Given the description of an element on the screen output the (x, y) to click on. 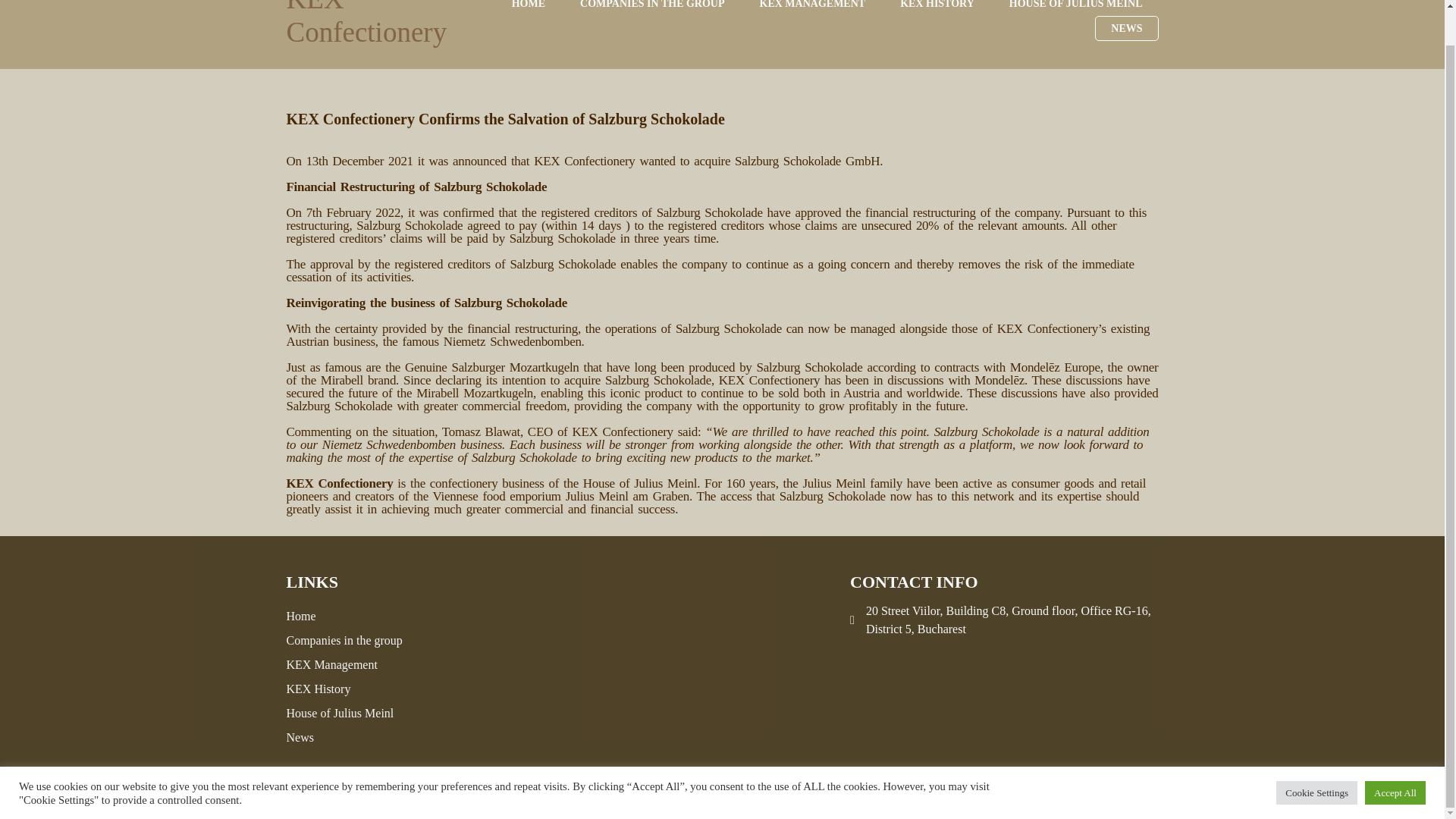
Cookie Settings (1316, 756)
House of Julius Meinl (389, 713)
NEWS (1125, 27)
KEX MANAGEMENT (813, 7)
KEX Management (389, 664)
HOUSE OF JULIUS MEINL (1075, 7)
KEX History (389, 689)
KEX HISTORY (936, 7)
Companies in the group (389, 640)
HOME (528, 7)
Accept All (1395, 756)
Home (389, 616)
COMPANIES IN THE GROUP (651, 7)
News (389, 737)
